Given the description of an element on the screen output the (x, y) to click on. 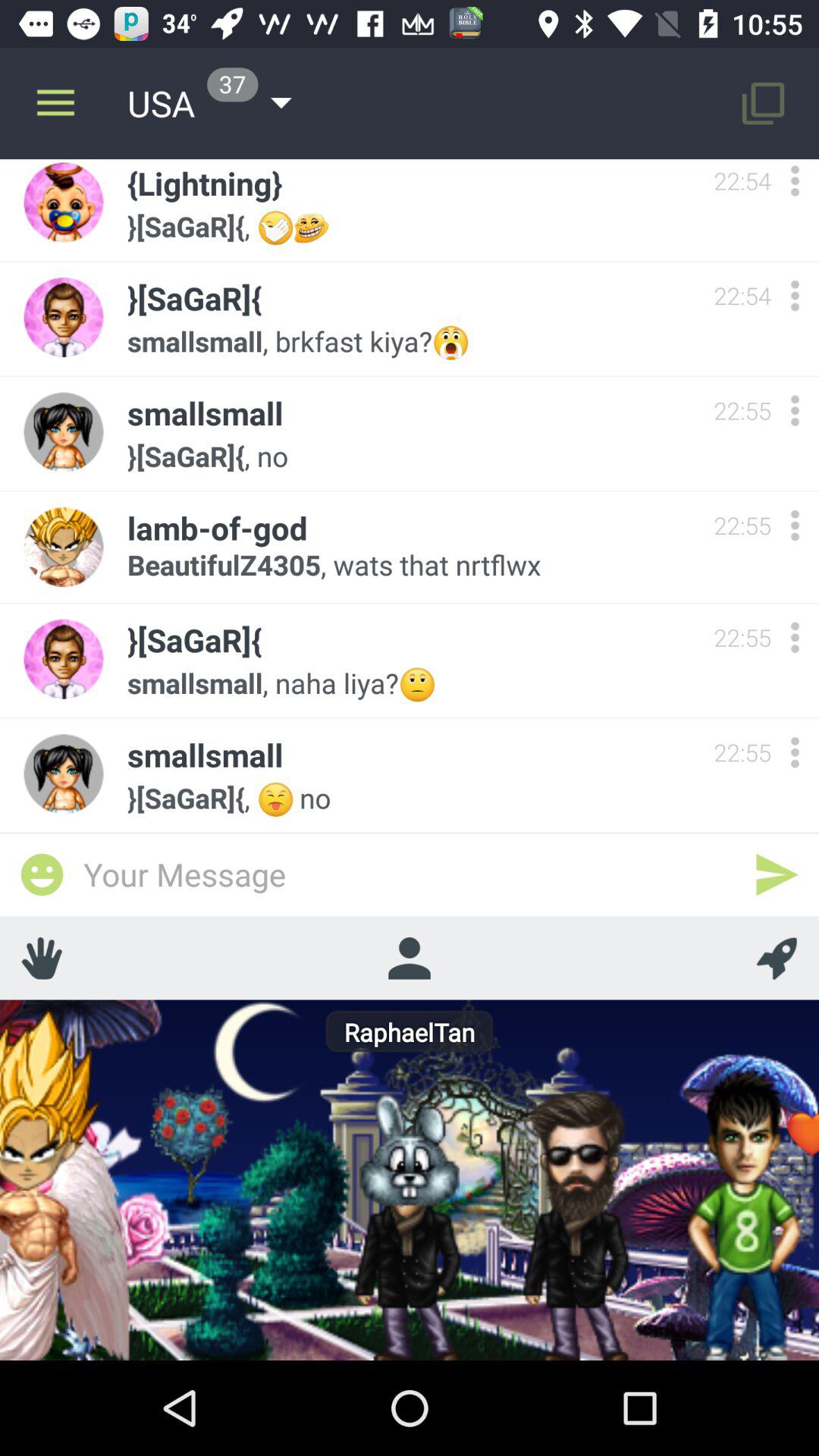
type message (409, 873)
